Given the description of an element on the screen output the (x, y) to click on. 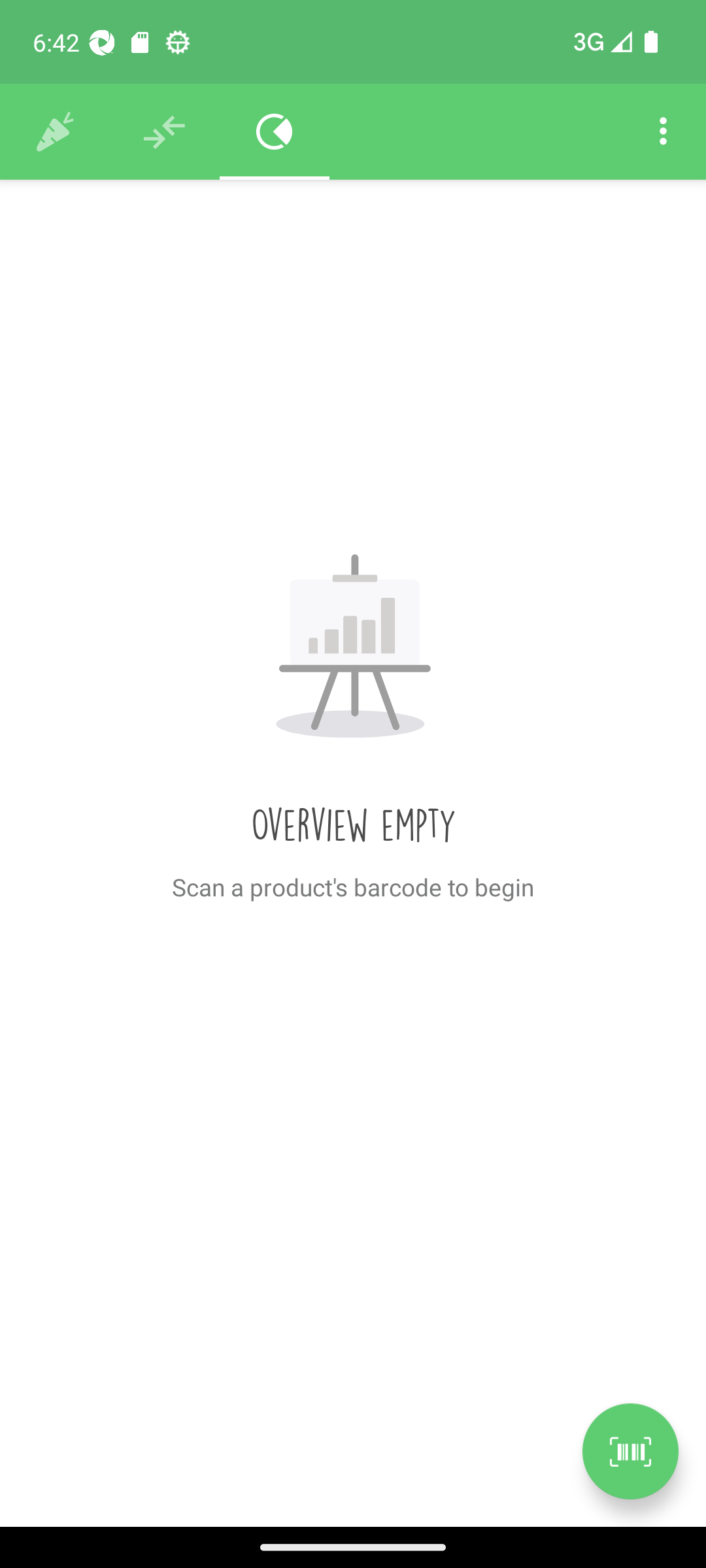
History (55, 131)
Recommendations (164, 131)
Settings (663, 131)
Scan a product (630, 1451)
